Given the description of an element on the screen output the (x, y) to click on. 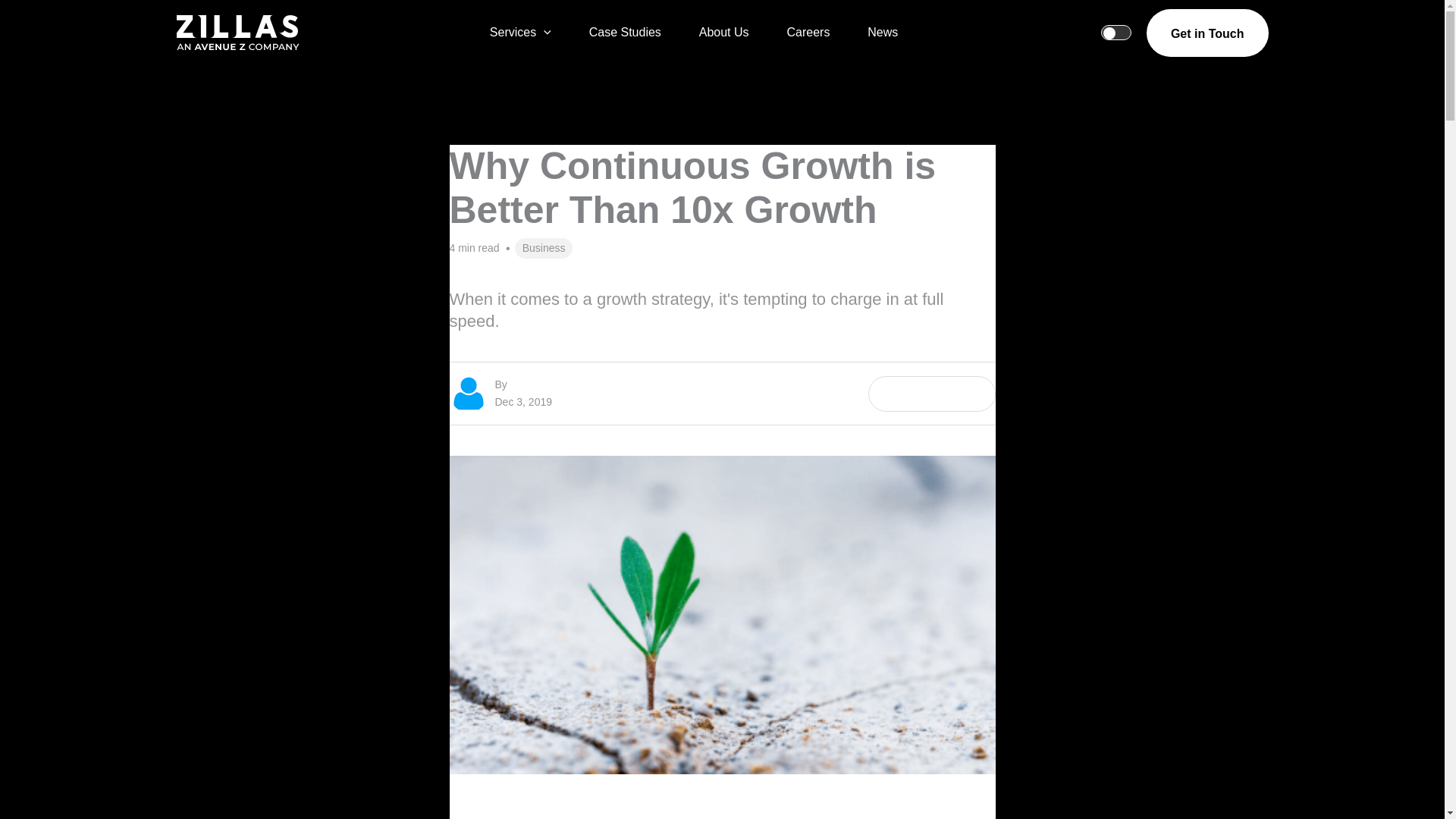
Careers (808, 33)
Share this blog (930, 393)
Case Studies (624, 33)
About Us (723, 33)
Services (529, 33)
Get in Touch (1207, 33)
